Given the description of an element on the screen output the (x, y) to click on. 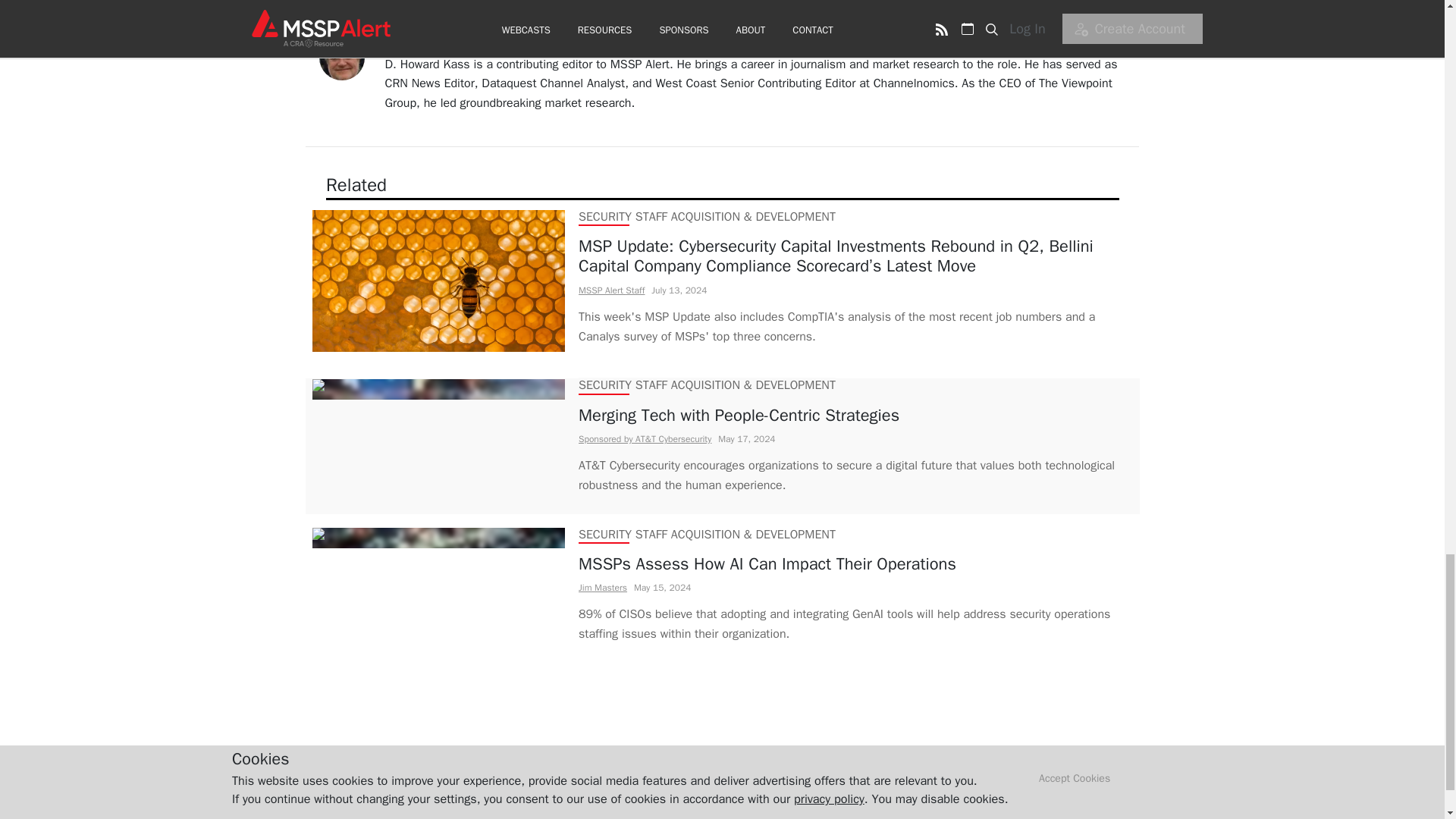
D. Howard Kass (427, 45)
Jim Masters (602, 587)
Merging Tech with People-Centric Strategies (855, 415)
MSSPs Assess How AI Can Impact Their Operations (855, 564)
MSSP Alert Staff (610, 290)
